Given the description of an element on the screen output the (x, y) to click on. 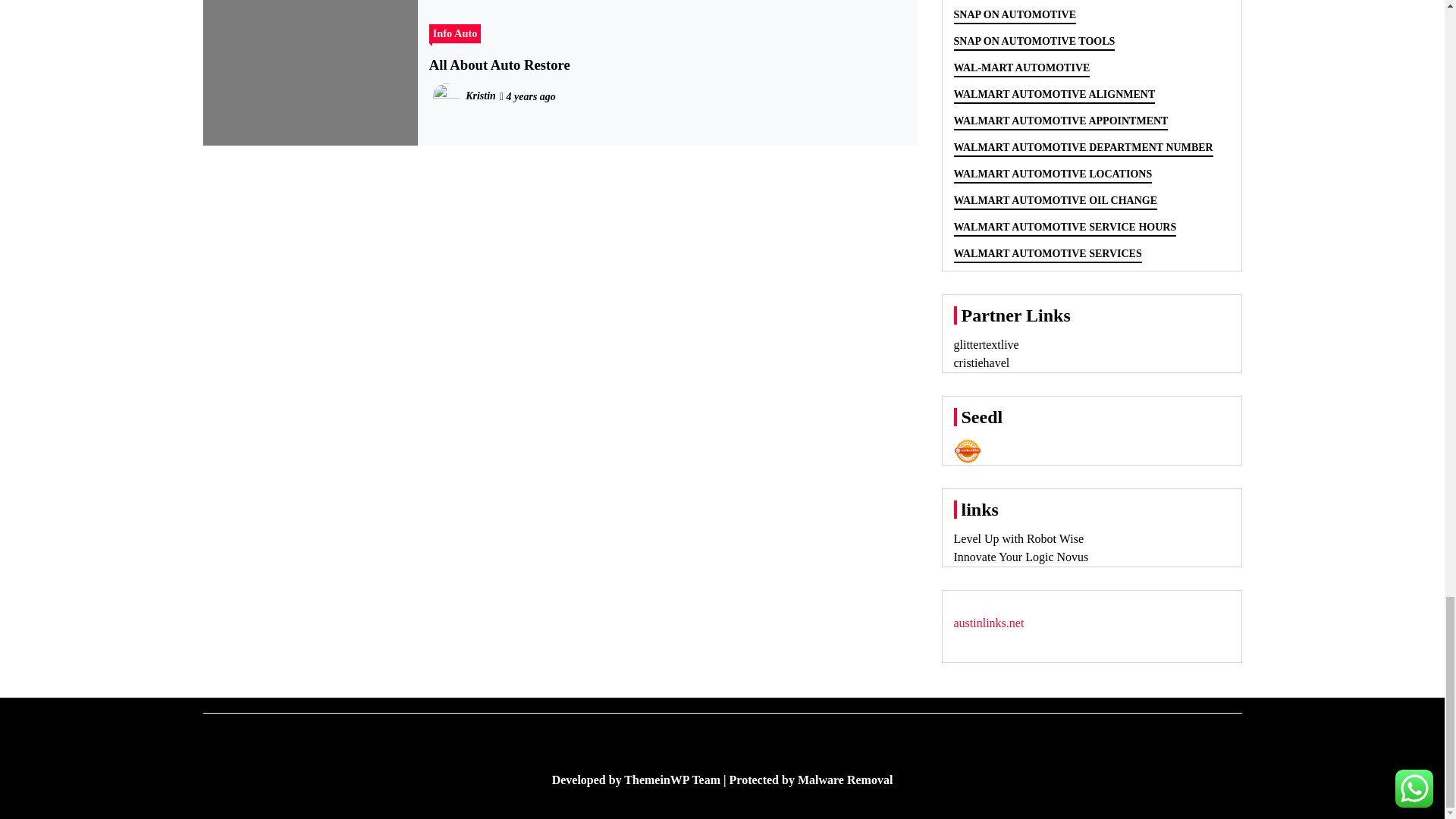
Seedbacklink (967, 451)
